Given the description of an element on the screen output the (x, y) to click on. 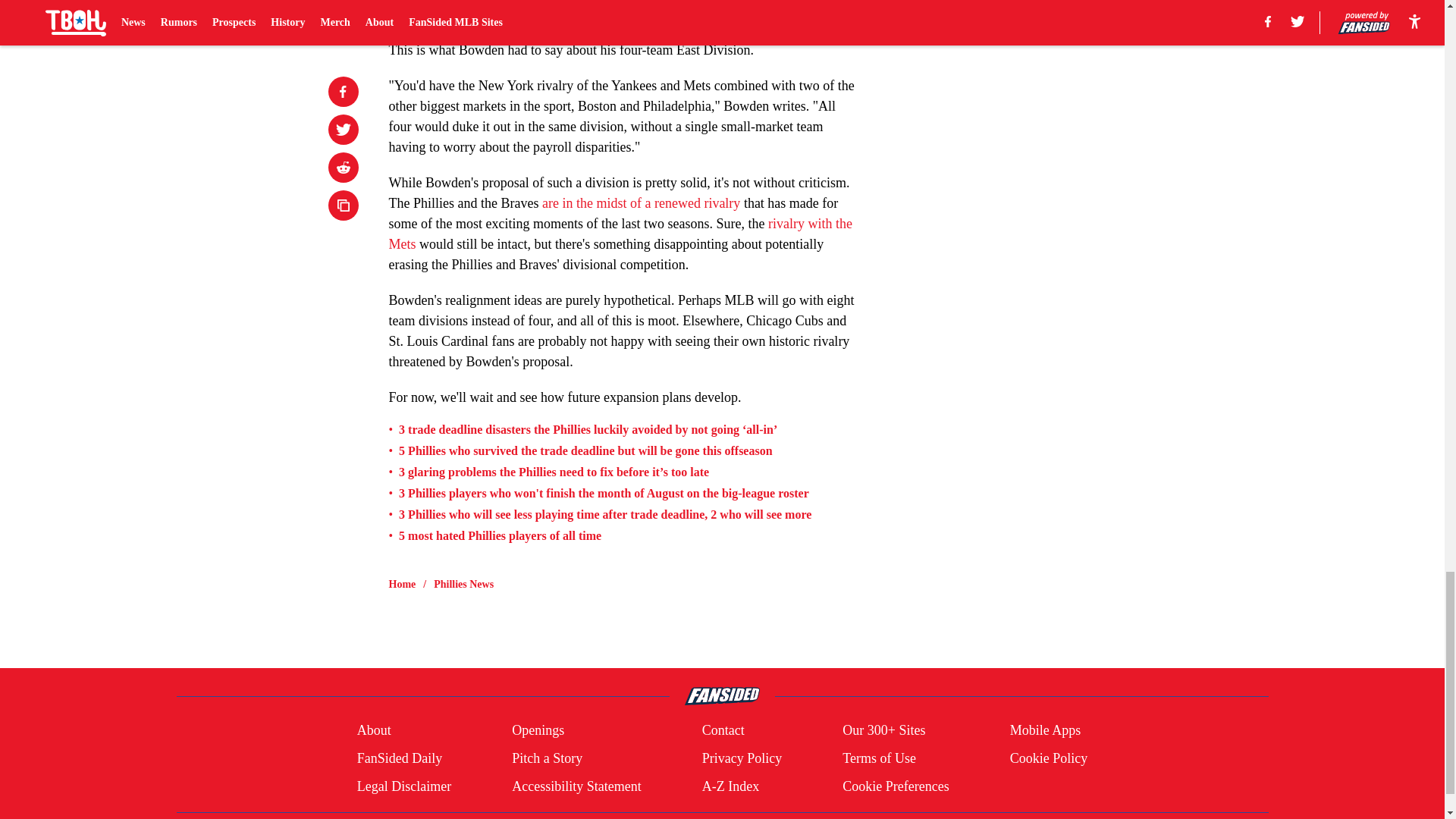
are in the midst of a renewed rivalry (640, 202)
5 most hated Phillies players of all time (499, 535)
Mobile Apps (1045, 730)
FanSided Daily (399, 758)
rivalry with the Mets (619, 233)
About (373, 730)
Pitch a Story (547, 758)
Home (401, 584)
